Given the description of an element on the screen output the (x, y) to click on. 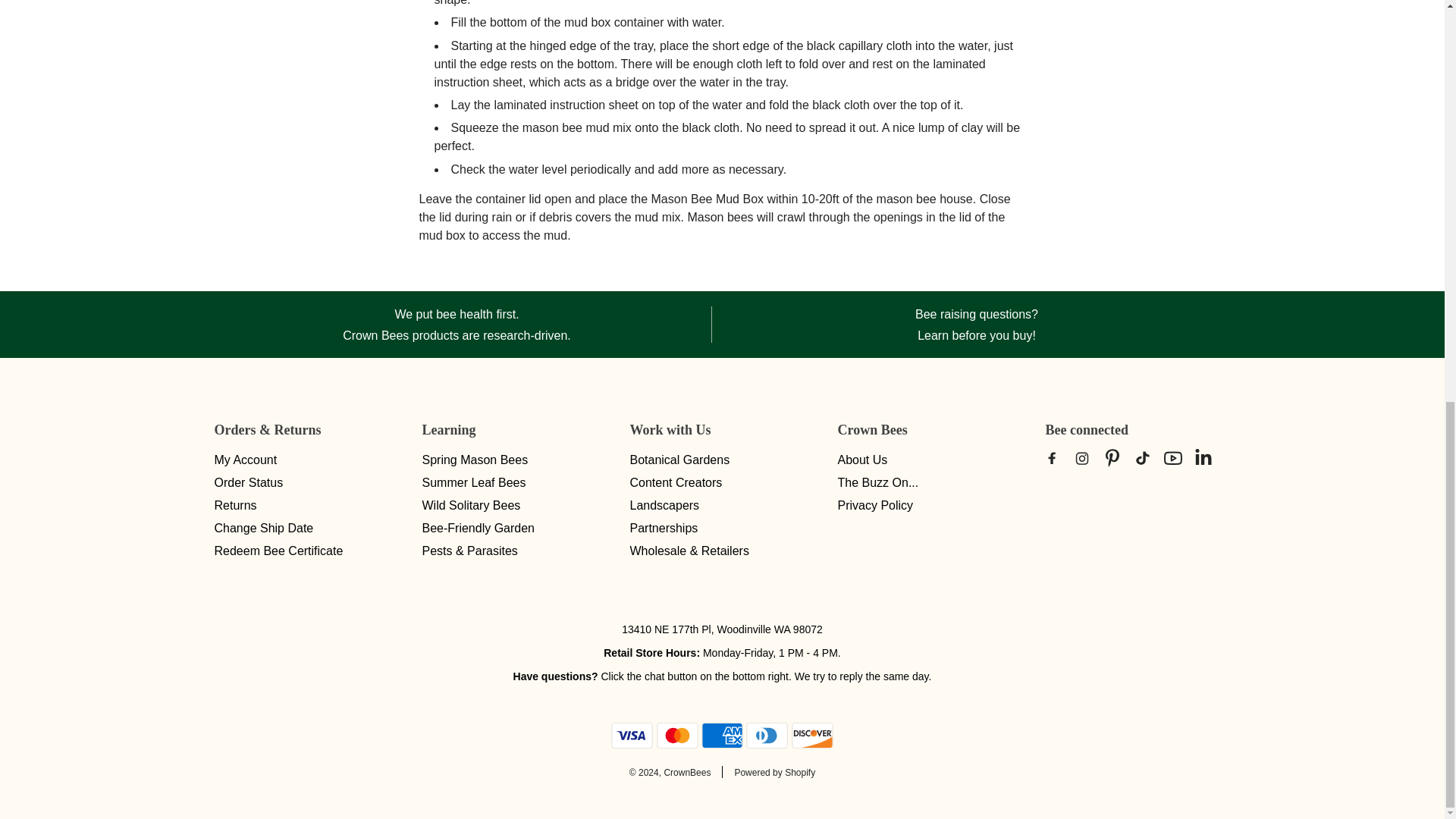
Diners Club (766, 735)
Mastercard (677, 735)
Visa (631, 735)
American Express (721, 735)
